Given the description of an element on the screen output the (x, y) to click on. 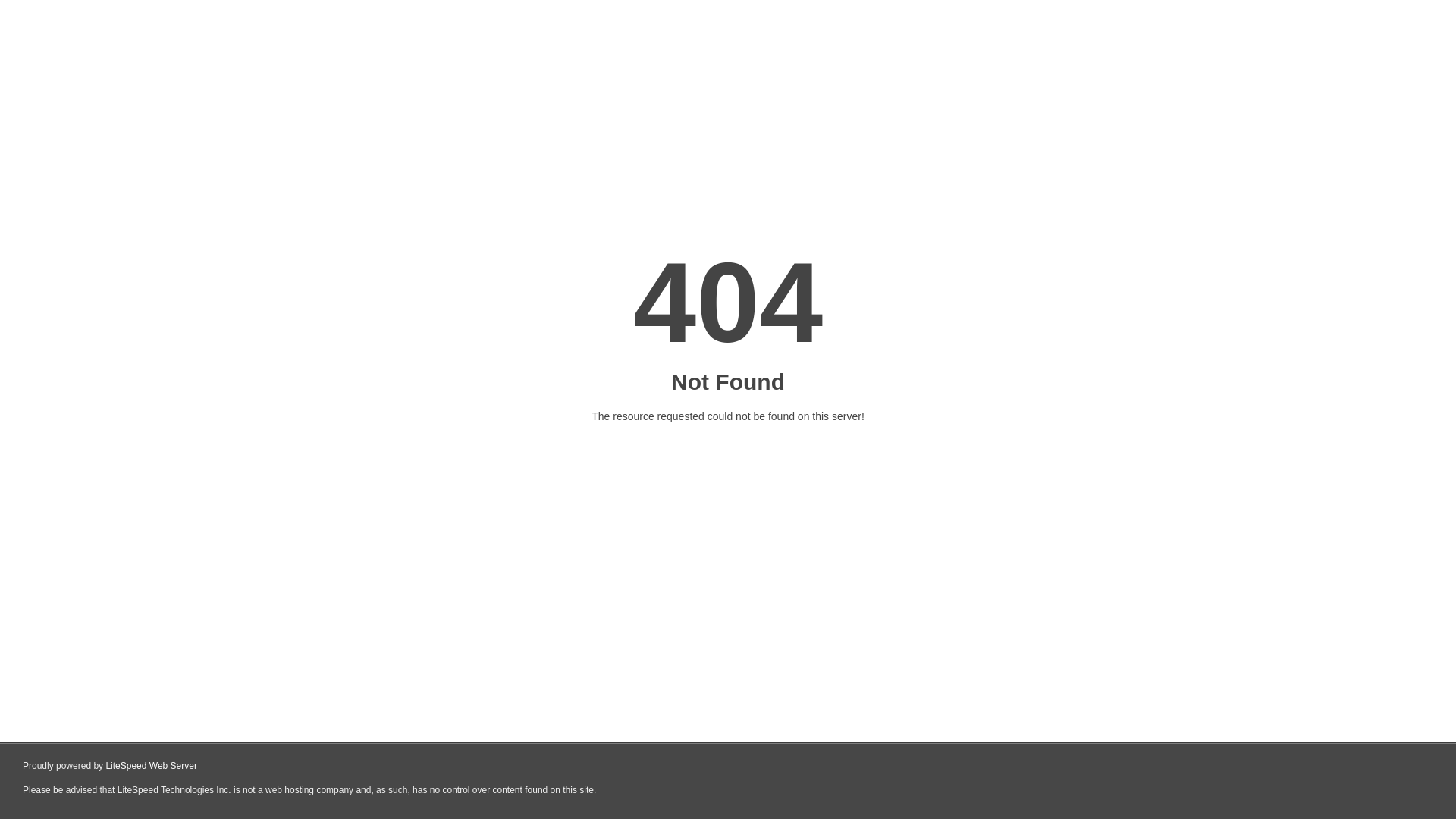
LiteSpeed Web Server (150, 765)
